Given the description of an element on the screen output the (x, y) to click on. 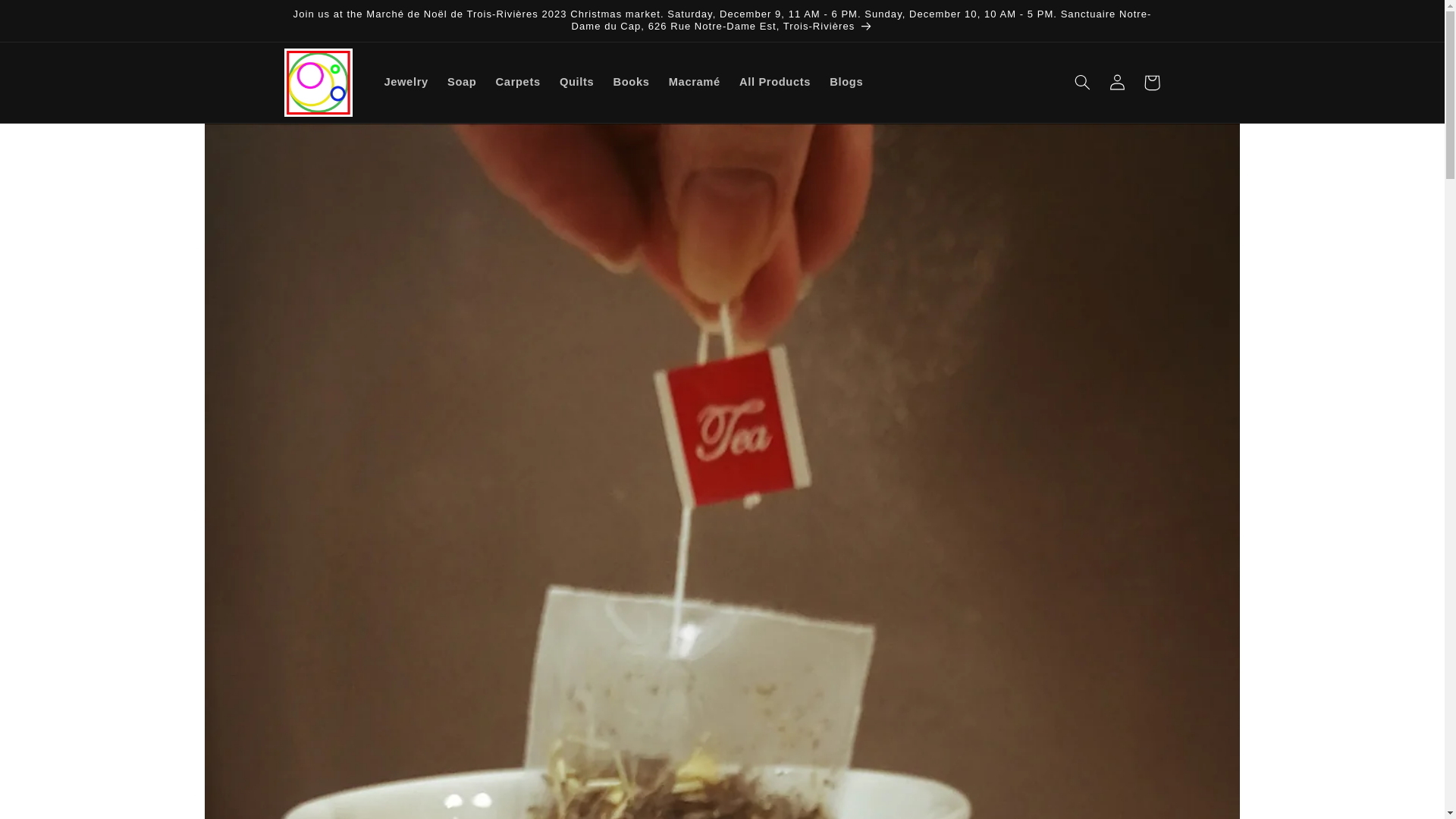
Books (631, 82)
Jewelry (406, 82)
Soap (462, 82)
Log in (1116, 82)
Carpets (518, 82)
Skip to content (48, 18)
Blogs (846, 82)
Quilts (577, 82)
All Products (774, 82)
Cart (1151, 82)
